Given the description of an element on the screen output the (x, y) to click on. 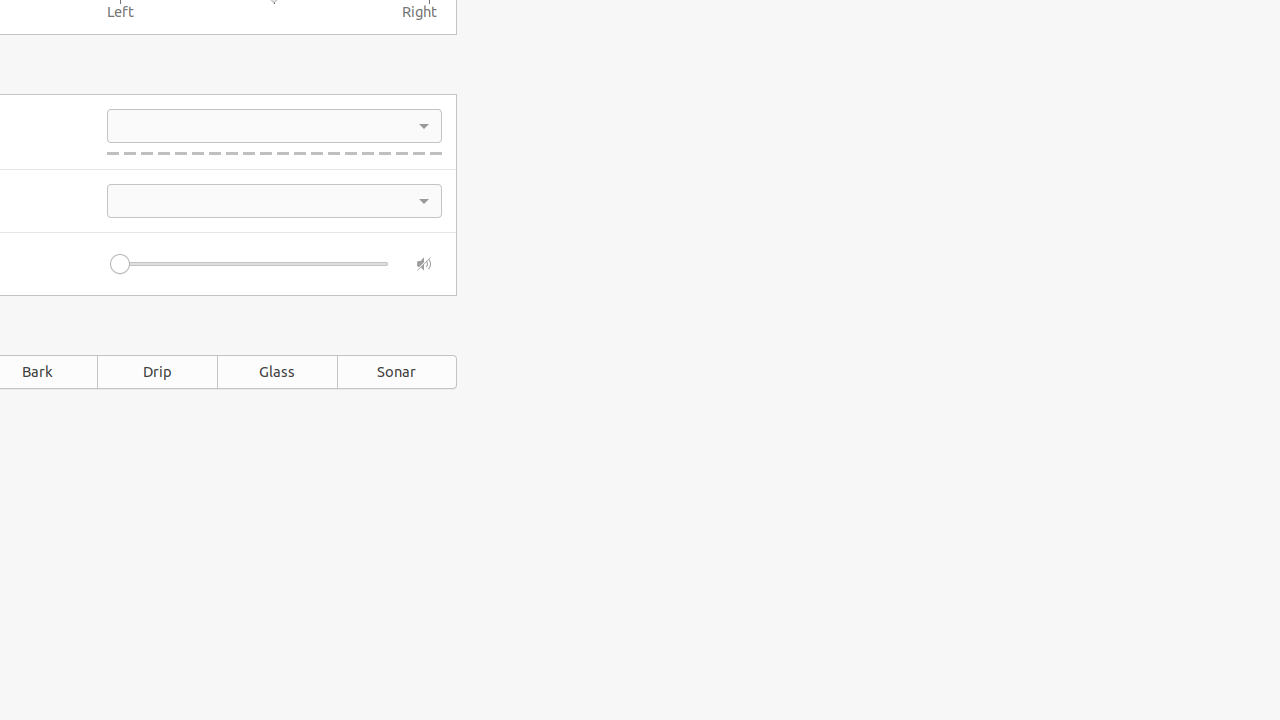
Glass Element type: toggle-button (277, 372)
Sonar Element type: toggle-button (397, 372)
Drip Element type: toggle-button (157, 372)
